Given the description of an element on the screen output the (x, y) to click on. 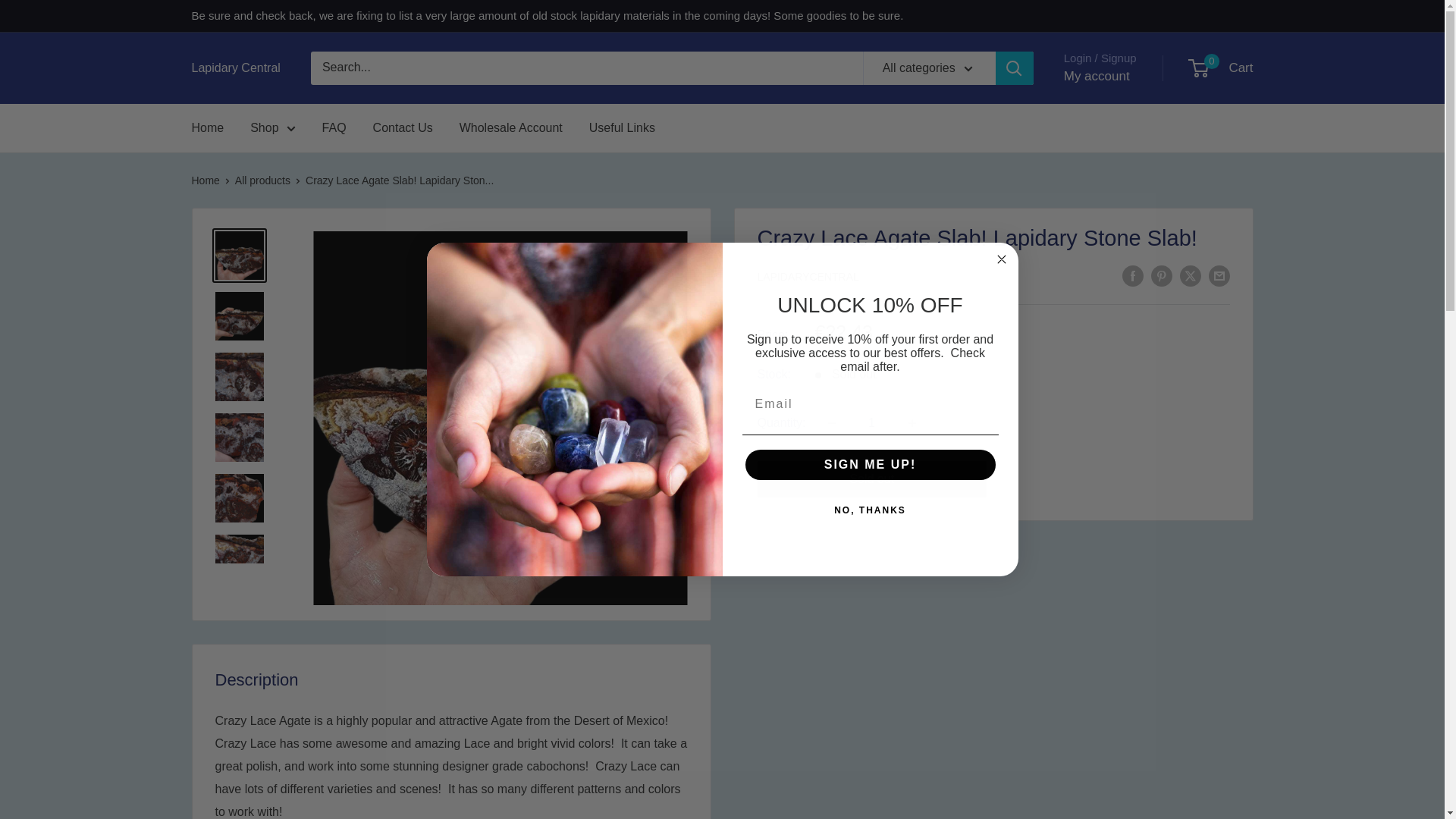
Decrease quantity by 1 (831, 422)
Increase quantity by 1 (912, 422)
Lapidary Central (234, 67)
Home (207, 128)
1 (1221, 68)
Shop (871, 422)
My account (272, 128)
